Given the description of an element on the screen output the (x, y) to click on. 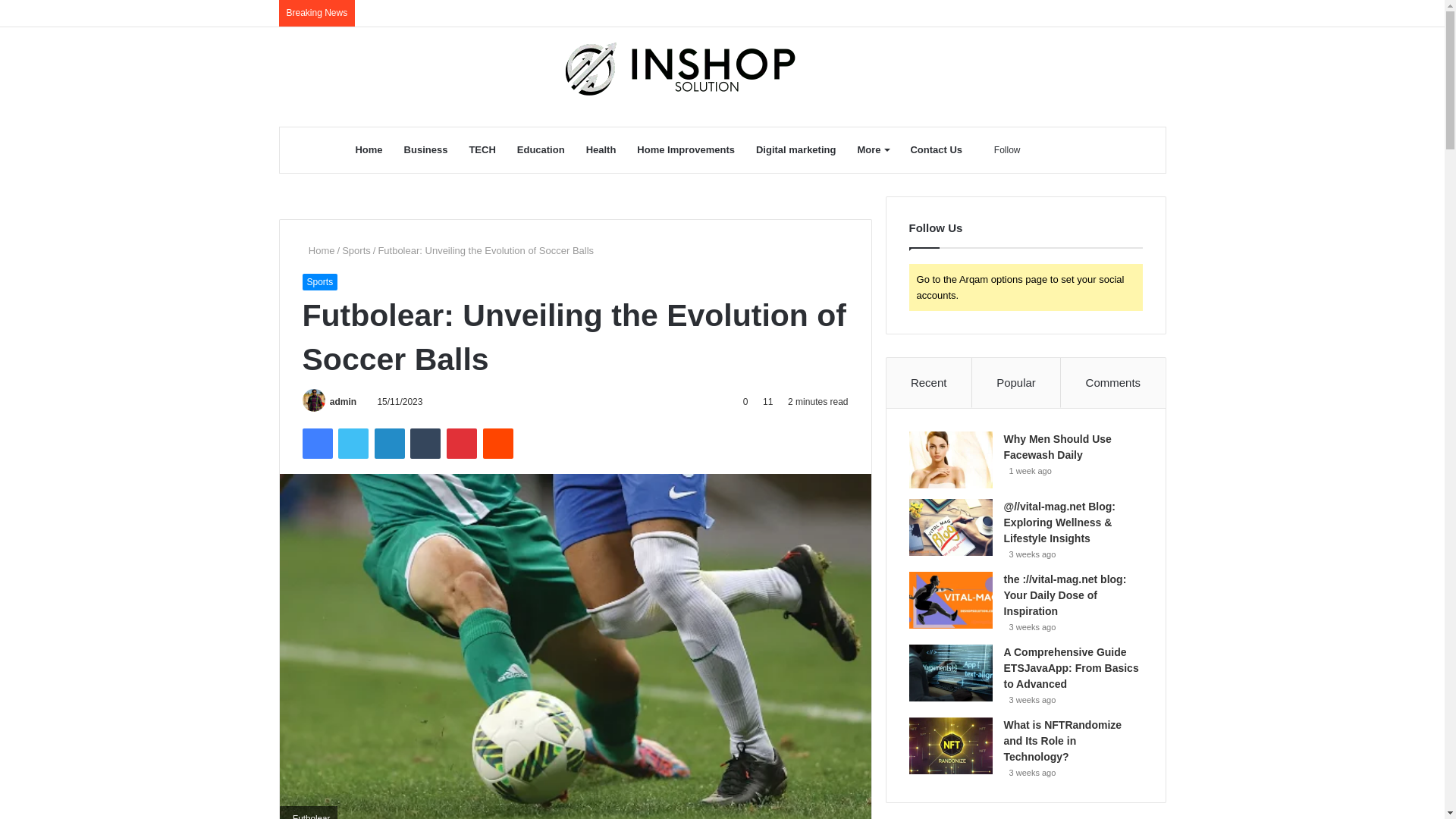
Business (425, 149)
Home (368, 149)
Health (601, 149)
Twitter (352, 443)
Tumblr (425, 443)
Reddit (498, 443)
LinkedIn (389, 443)
Digital marketing (795, 149)
InShop Solution (721, 68)
Education (540, 149)
TECH (481, 149)
Pinterest (461, 443)
Facebook (316, 443)
More (872, 149)
Home Improvements (685, 149)
